Given the description of an element on the screen output the (x, y) to click on. 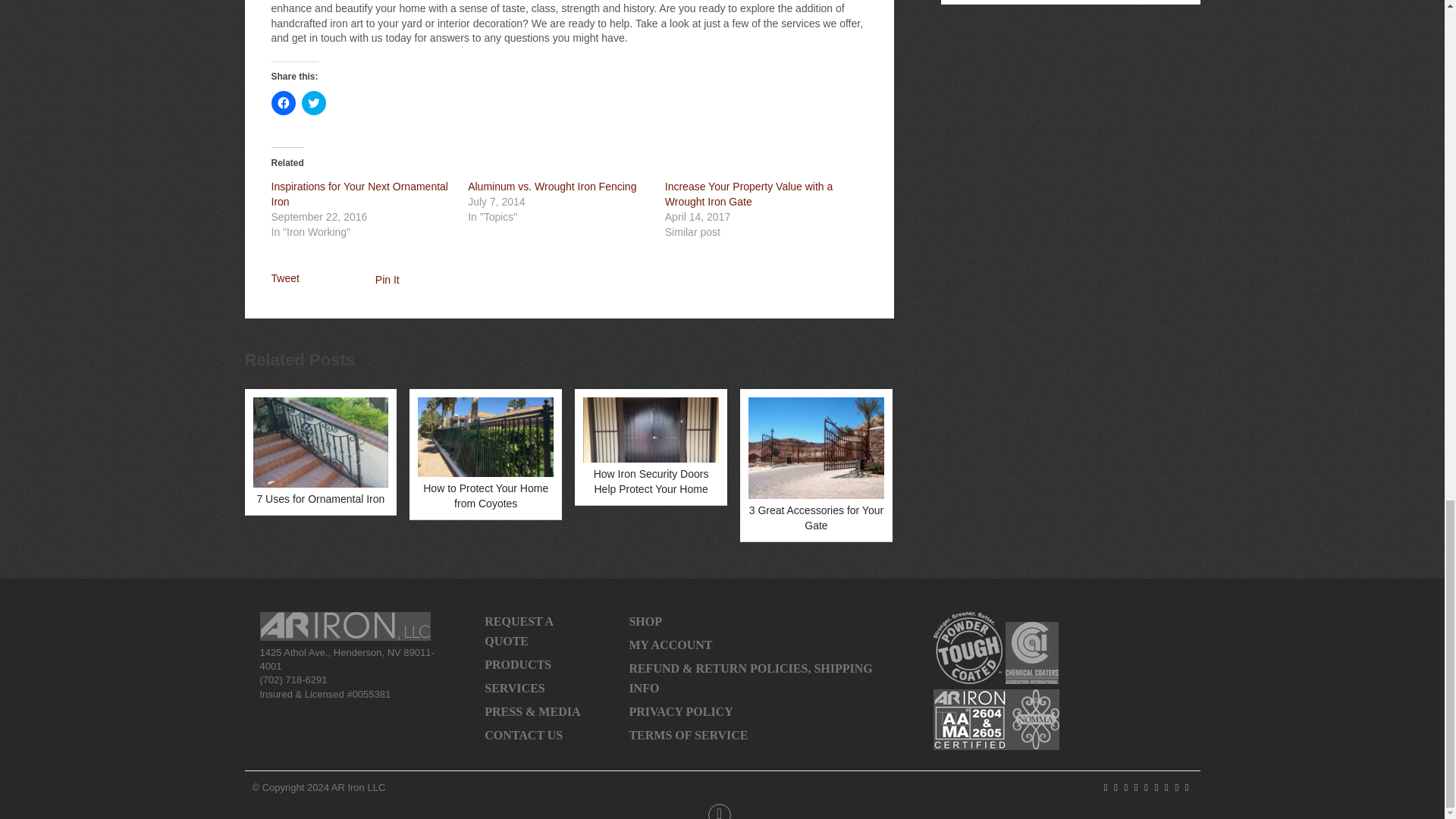
Inspirations for Your Next Ornamental Iron (359, 194)
Aluminum vs. Wrought Iron Fencing (551, 186)
Increase Your Property Value with a Wrought Iron Gate (748, 194)
How Iron Security Doors Help Protect Your Home (651, 446)
7 Uses for Ornamental Iron (320, 451)
Click to share on Facebook (282, 102)
Aluminum vs. Wrought Iron Fencing (551, 186)
Inspirations for Your Next Ornamental Iron (359, 194)
How to Protect Your Home from Coyotes (485, 454)
Increase Your Property Value with a Wrought Iron Gate (748, 194)
Click to share on Twitter (313, 102)
3 Great Accessories for Your Gate (815, 465)
